Given the description of an element on the screen output the (x, y) to click on. 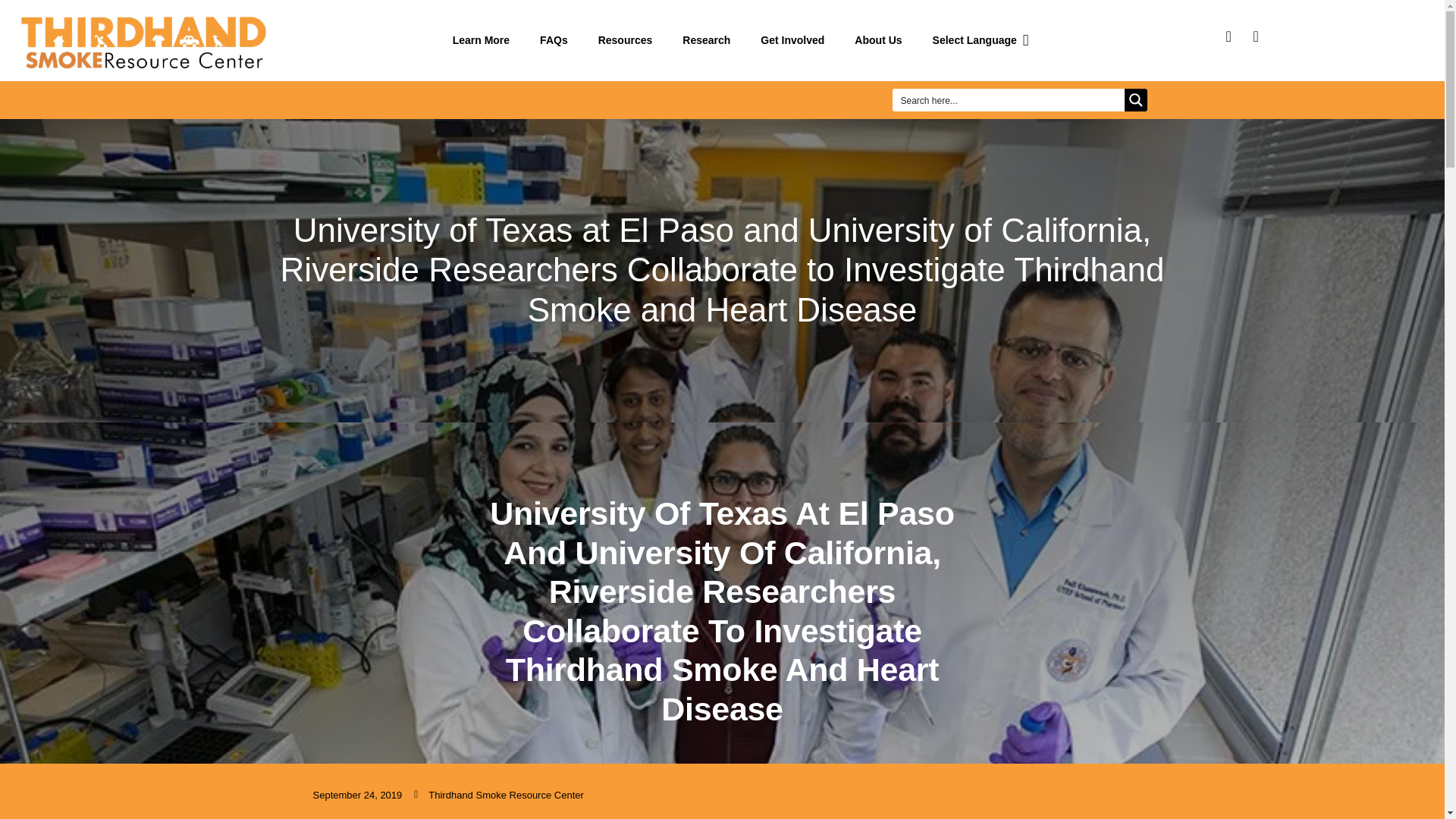
Resources (625, 40)
FAQs (553, 40)
Get Involved (792, 40)
Research (705, 40)
About Us (878, 40)
Learn More (481, 40)
